Given the description of an element on the screen output the (x, y) to click on. 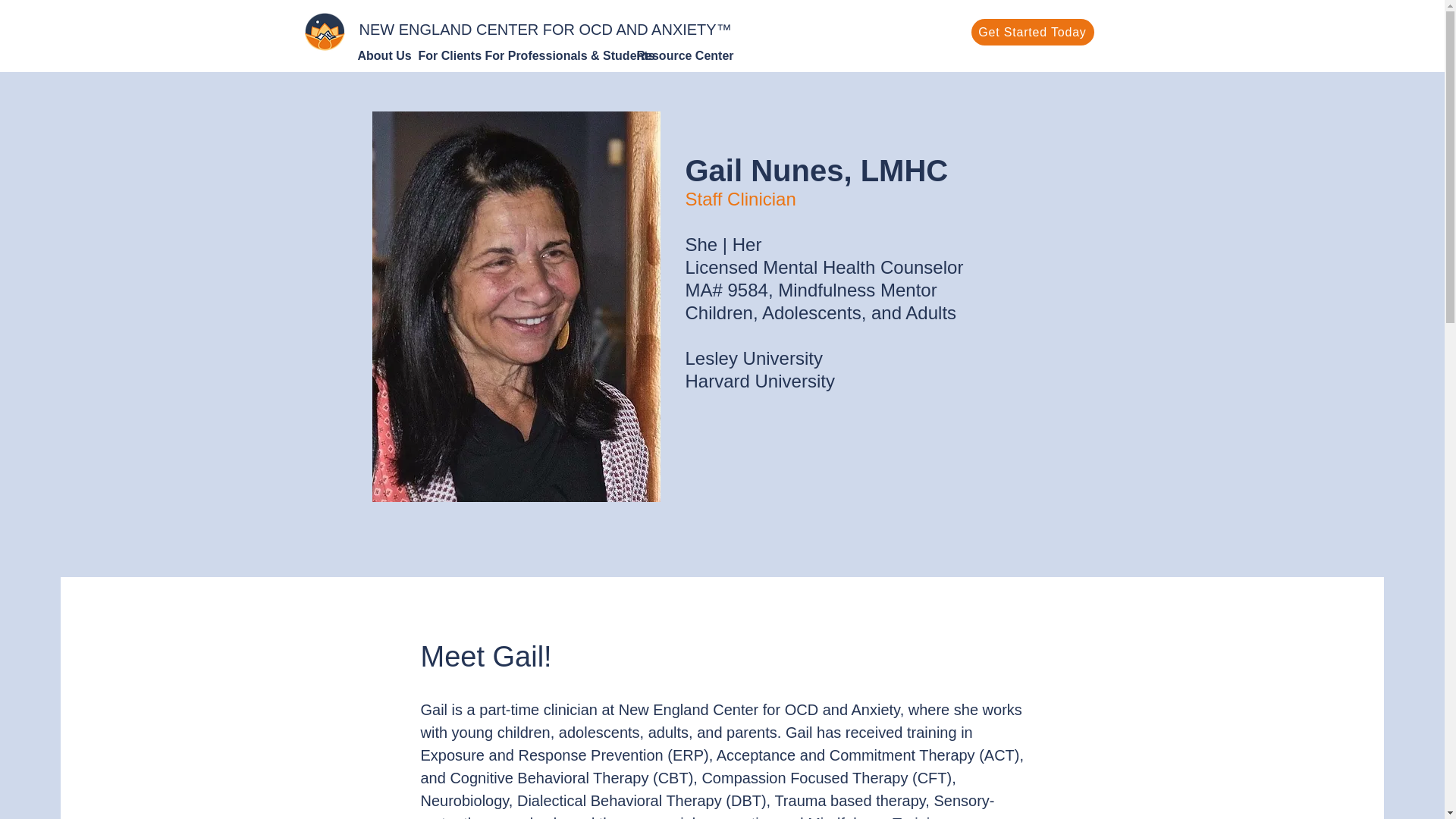
Resource Center (675, 55)
Get Started Today (1032, 31)
For Clients (443, 55)
About Us (380, 55)
